Given the description of an element on the screen output the (x, y) to click on. 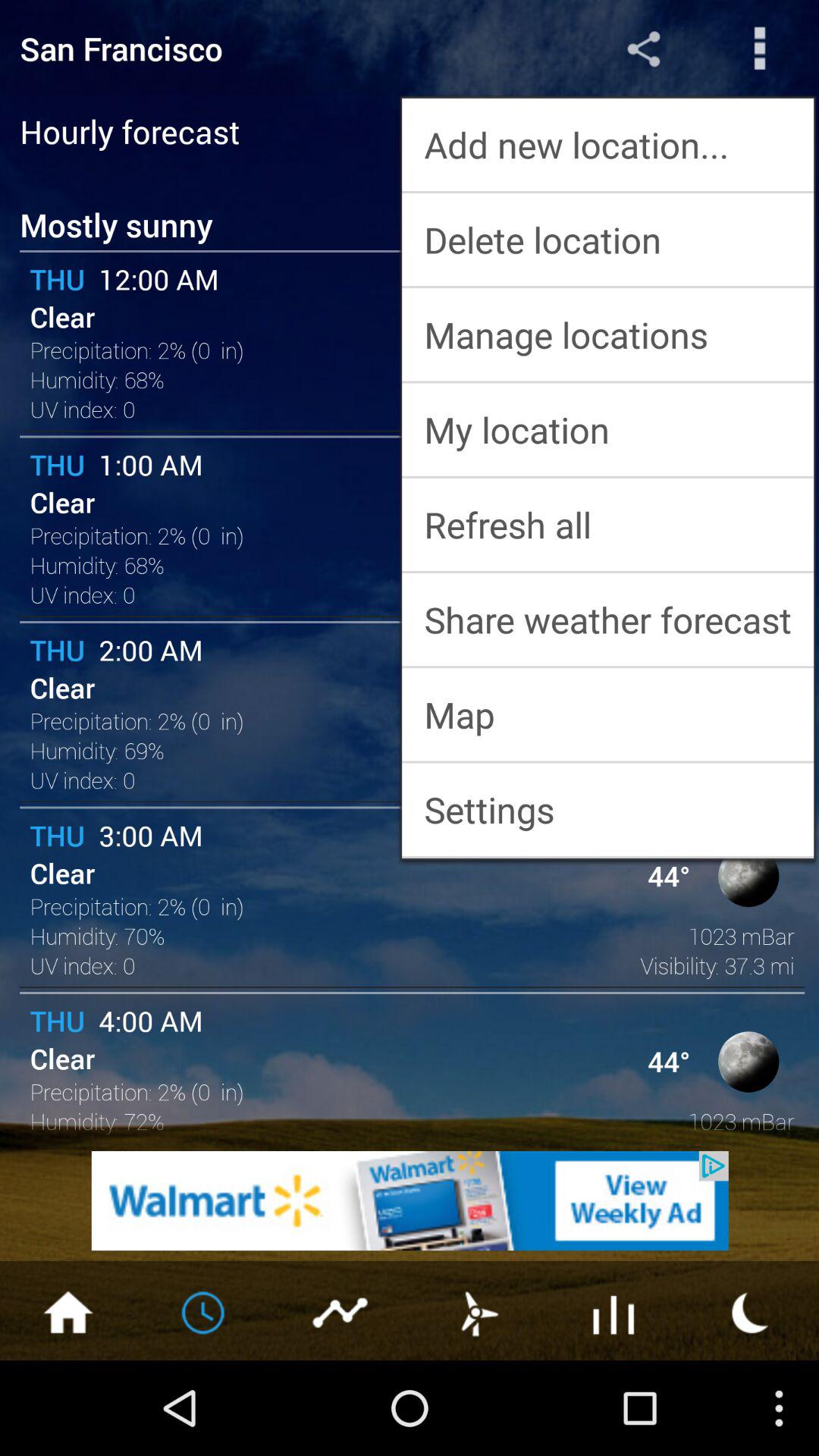
turn on the add new location... item (607, 144)
